Given the description of an element on the screen output the (x, y) to click on. 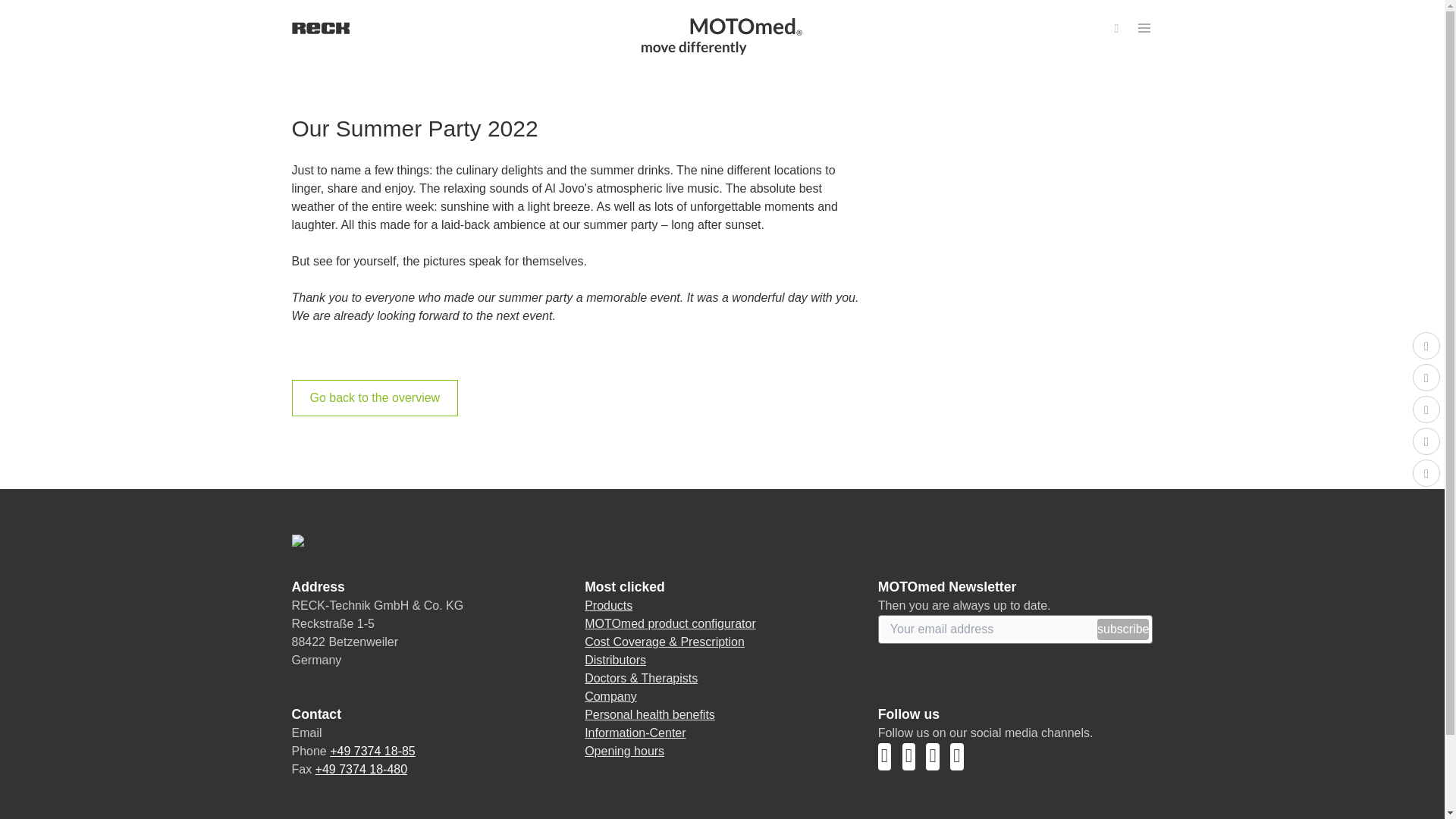
youtube (889, 759)
twitter (938, 759)
facebook (960, 759)
instagram (914, 759)
